Given the description of an element on the screen output the (x, y) to click on. 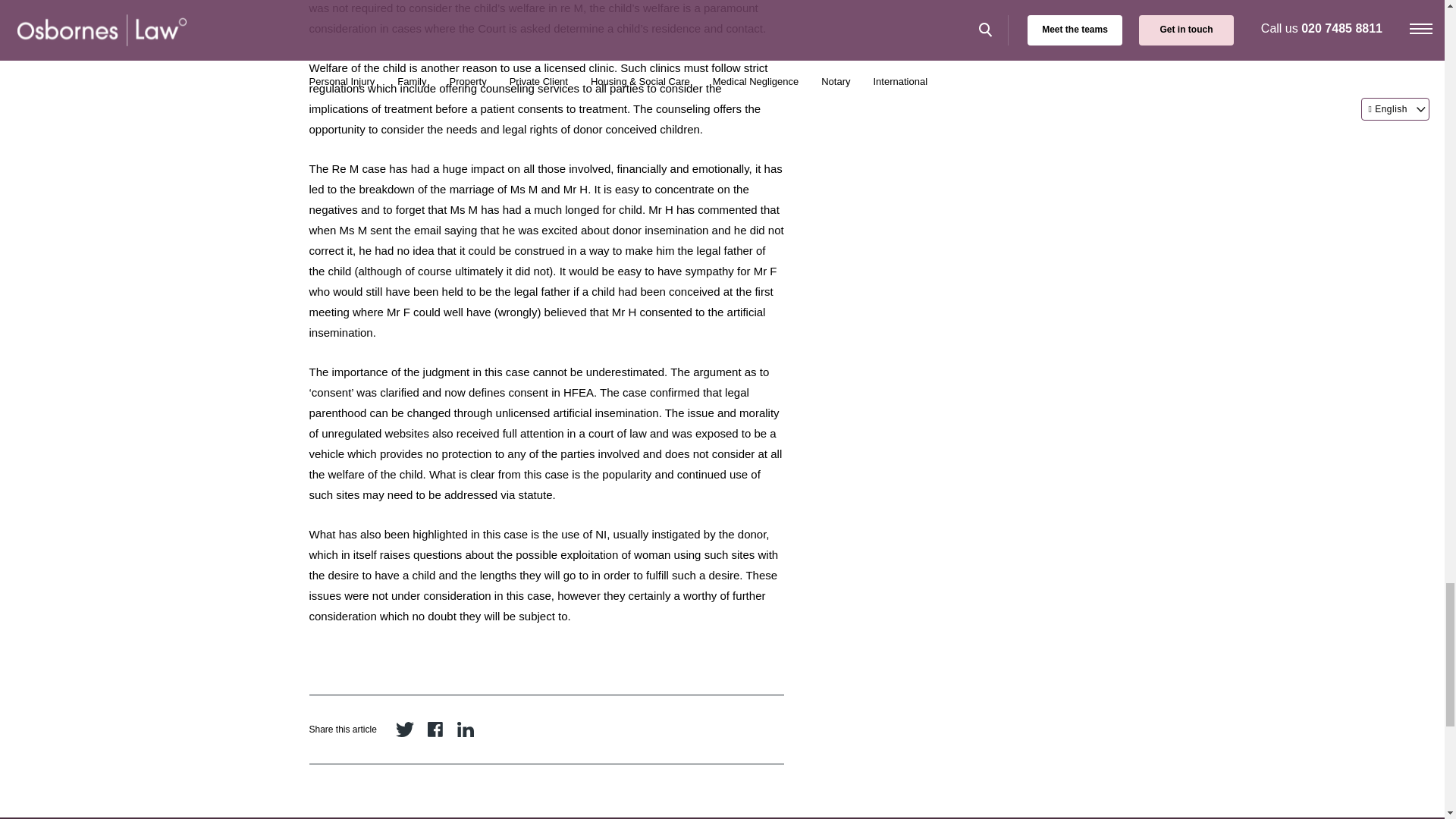
Share on Twitter (404, 729)
Share on Facebook (434, 729)
Share on LinkedIn (465, 729)
